Given the description of an element on the screen output the (x, y) to click on. 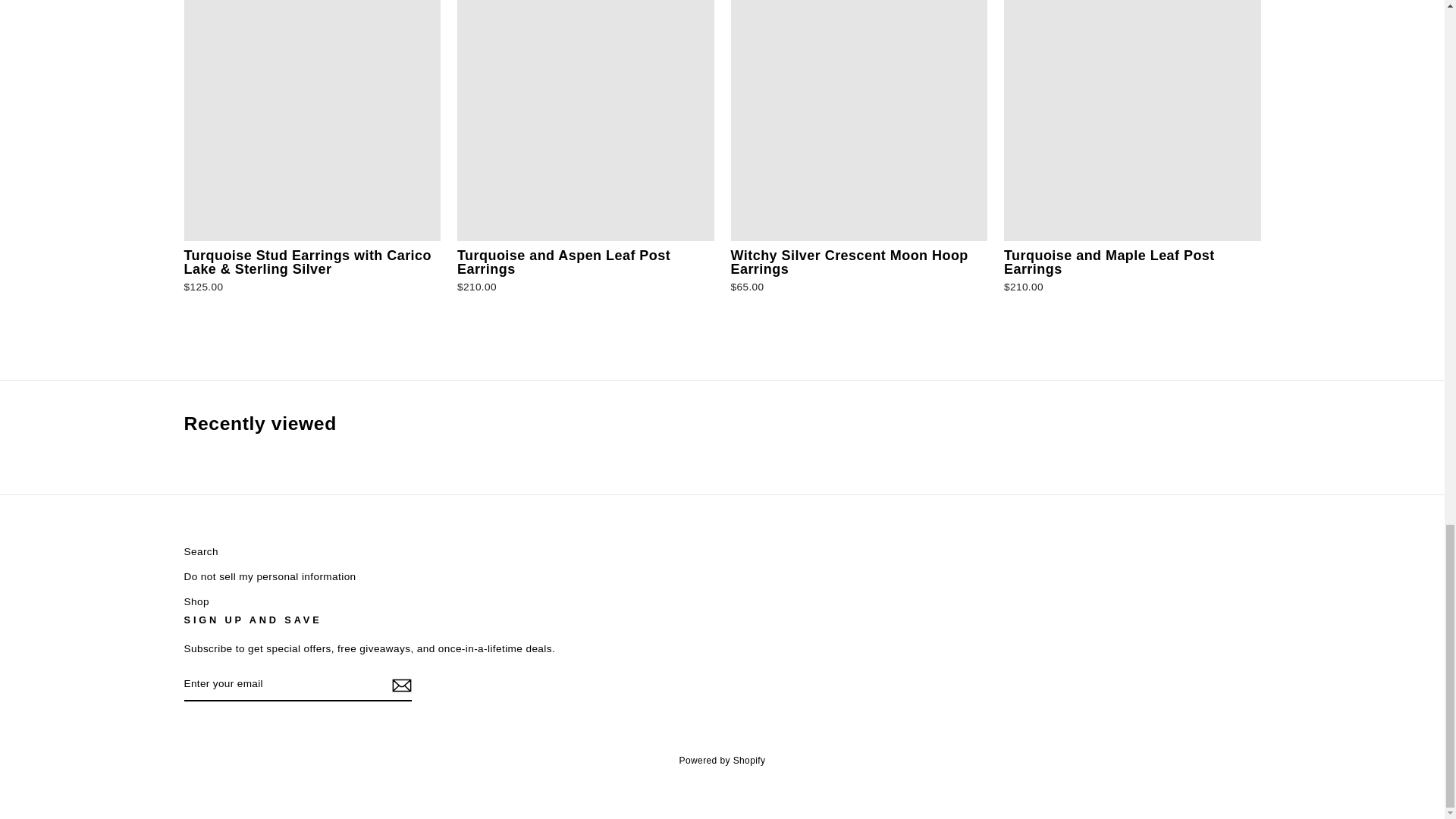
icon-email (400, 685)
